Given the description of an element on the screen output the (x, y) to click on. 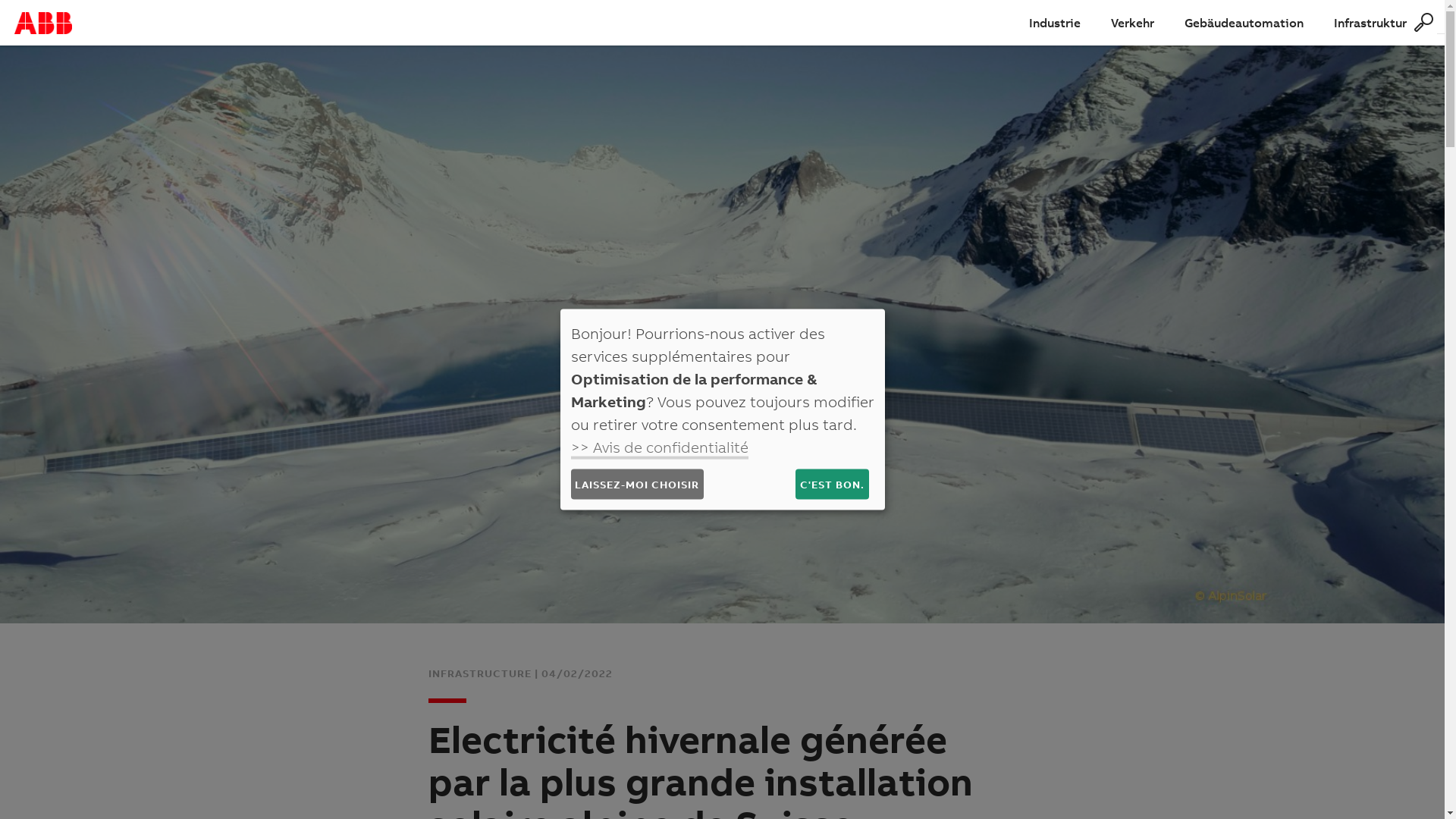
C'EST BON. Element type: text (831, 483)
Infrastruktur Element type: text (1369, 22)
LAISSEZ-MOI CHOISIR Element type: text (636, 483)
Verkehr Element type: text (1132, 22)
Industrie Element type: text (1054, 22)
